Given the description of an element on the screen output the (x, y) to click on. 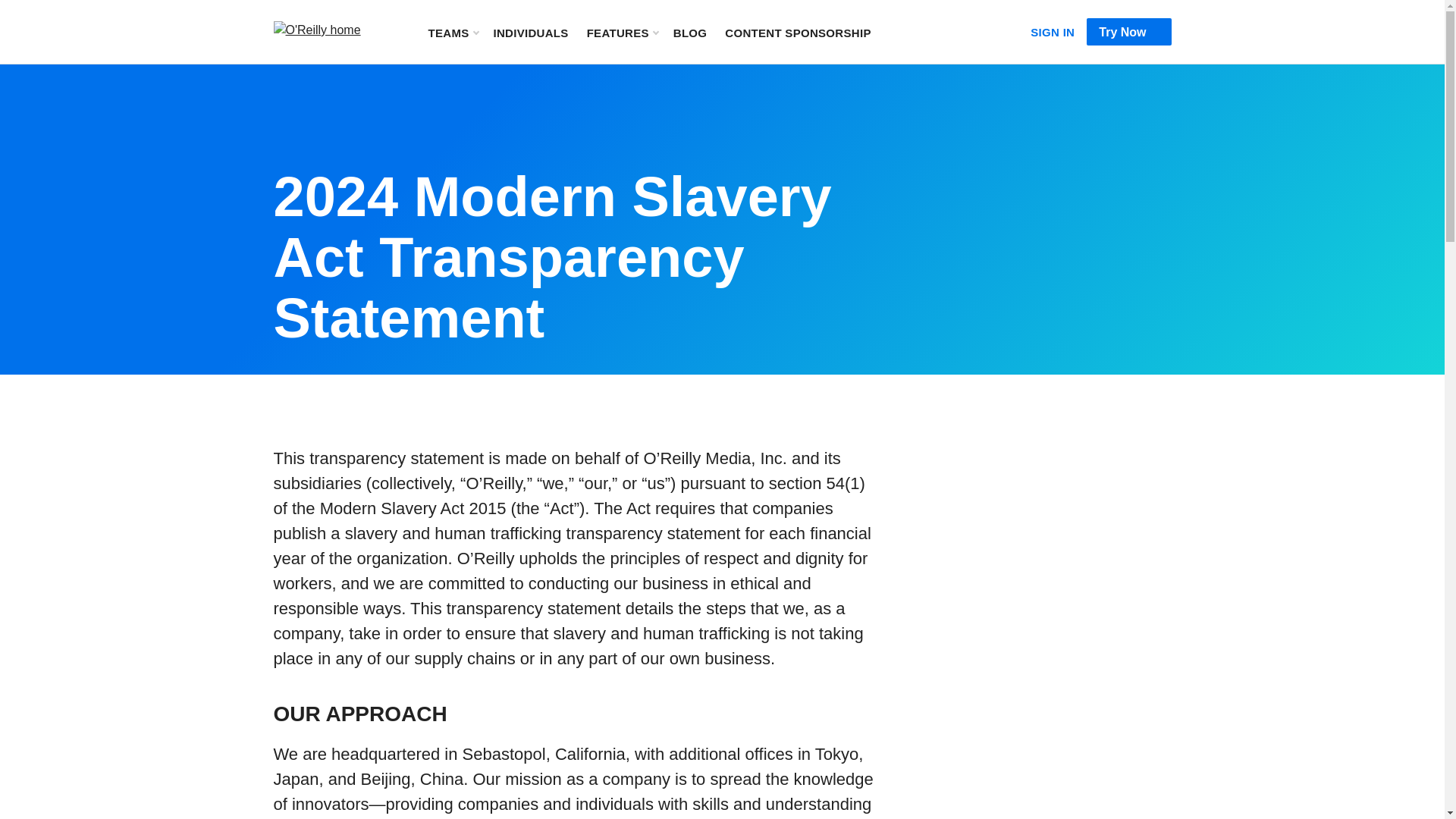
Try Now (1128, 31)
BLOG (689, 31)
Search (903, 31)
SIGN IN (1052, 29)
home page (331, 30)
FEATURES (622, 31)
CONTENT SPONSORSHIP (797, 31)
TEAMS (452, 31)
INDIVIDUALS (530, 31)
